Given the description of an element on the screen output the (x, y) to click on. 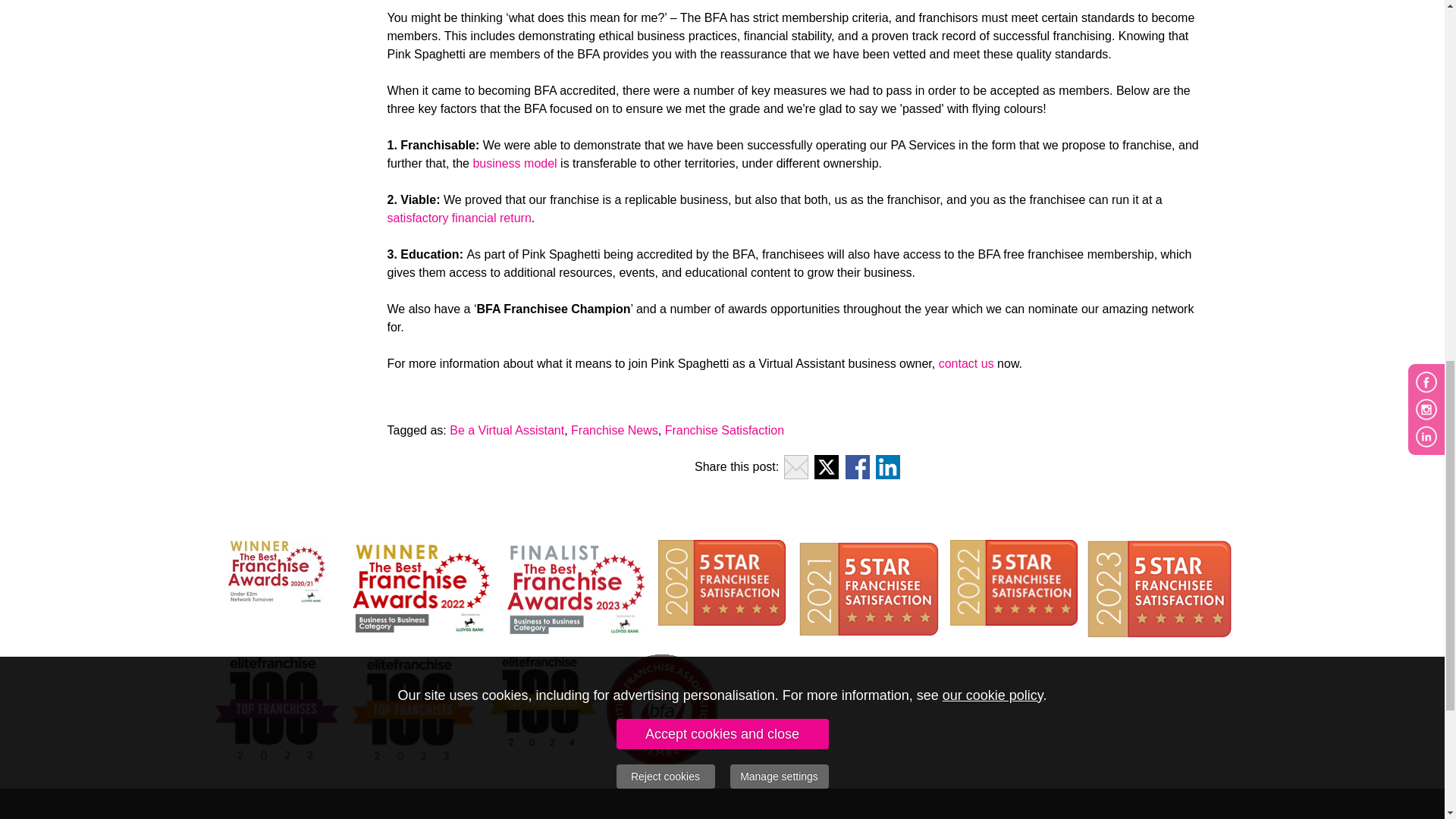
Franchise Satisfaction (724, 430)
business model (513, 163)
satisfactory financial return (459, 217)
contact us (966, 363)
Be a Virtual Assistant (506, 430)
Franchise News (614, 430)
